Given the description of an element on the screen output the (x, y) to click on. 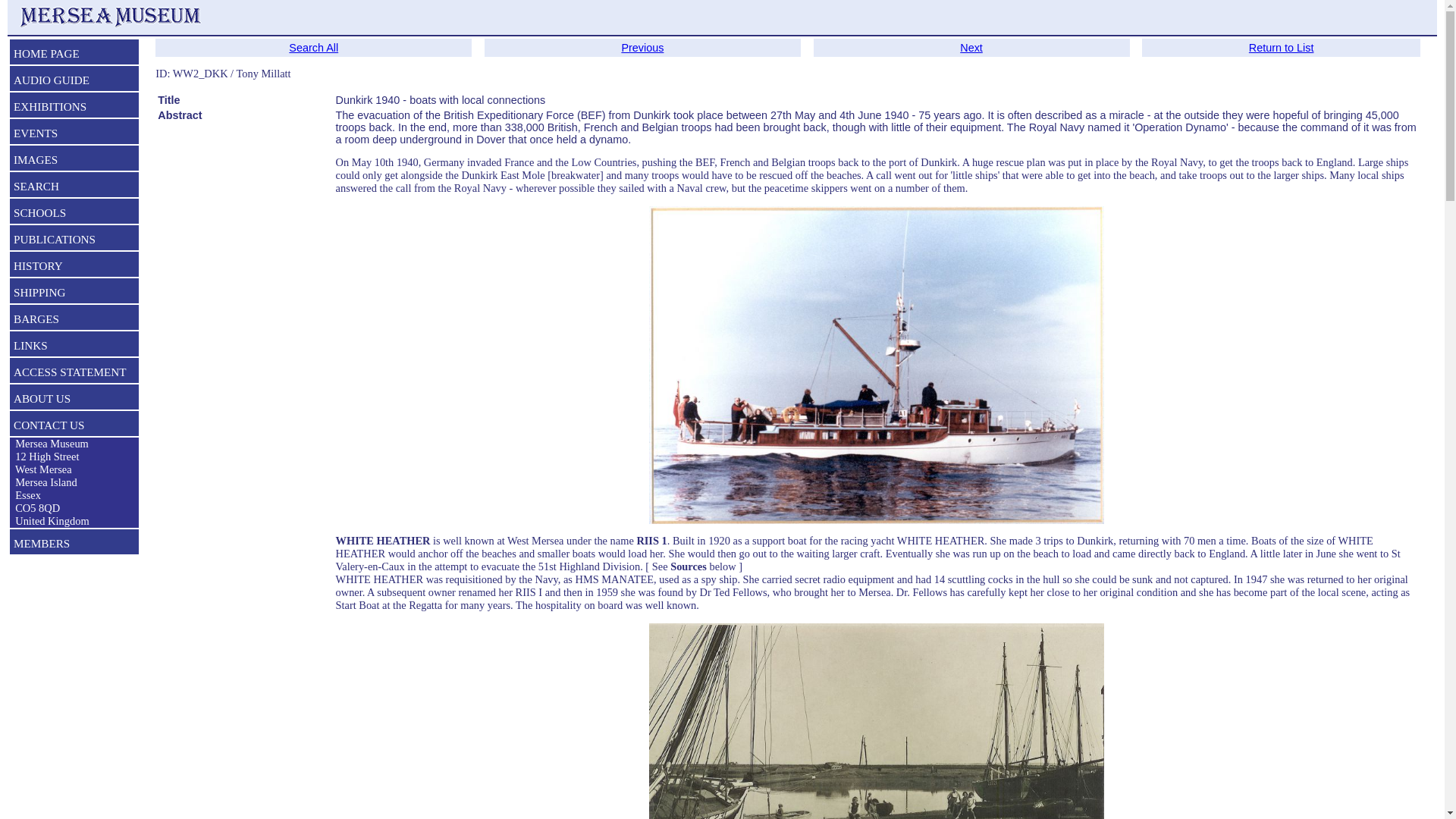
SHIPPING (74, 293)
SEARCH (74, 187)
PUBLICATIONS (74, 241)
HISTORY (74, 267)
SCHOOLS (74, 214)
IMAGES (74, 160)
HOME PAGE (74, 55)
EXHIBITIONS (74, 108)
AUDIO GUIDE (74, 81)
EVENTS (74, 134)
